Given the description of an element on the screen output the (x, y) to click on. 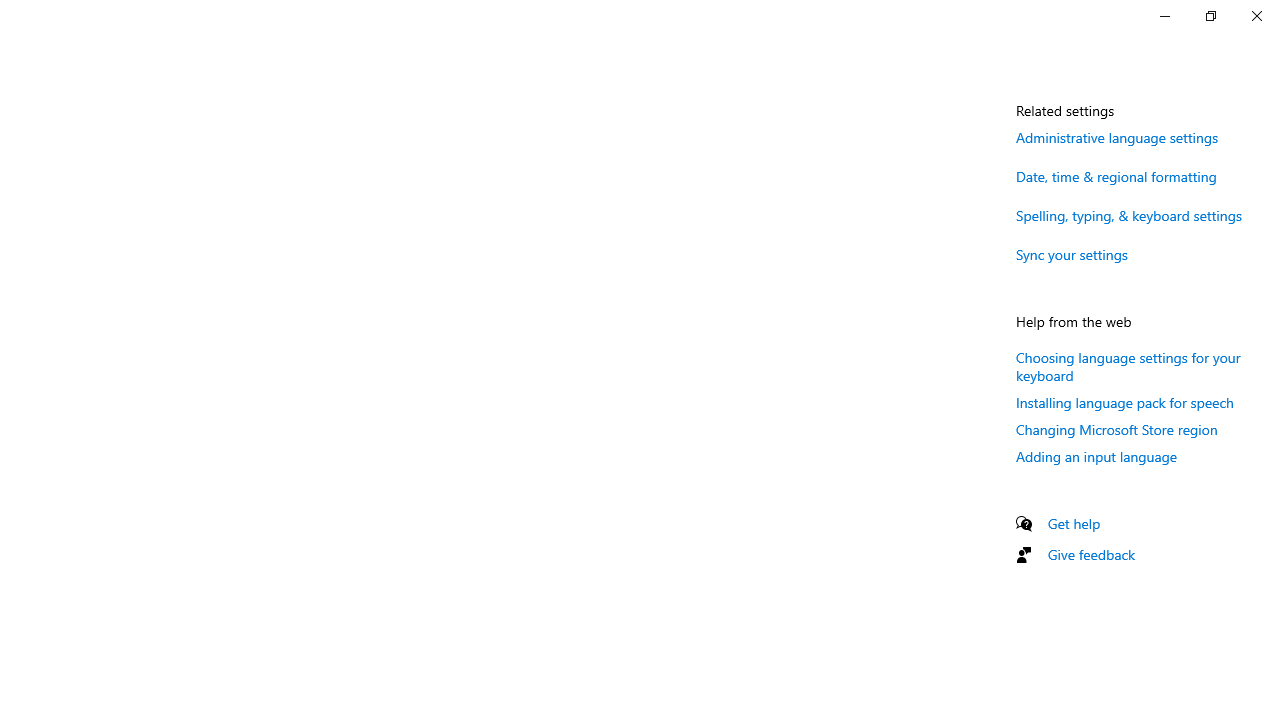
Choosing language settings for your keyboard (1128, 366)
Spelling, typing, & keyboard settings (1128, 214)
Sync your settings (1071, 254)
Administrative language settings (1117, 137)
Installing language pack for speech (1124, 402)
Close Settings (1256, 15)
Changing Microsoft Store region (1117, 429)
Date, time & regional formatting (1116, 176)
Adding an input language (1096, 456)
Restore Settings (1210, 15)
Give feedback (1091, 554)
Minimize Settings (1164, 15)
Get help (1074, 523)
